Given the description of an element on the screen output the (x, y) to click on. 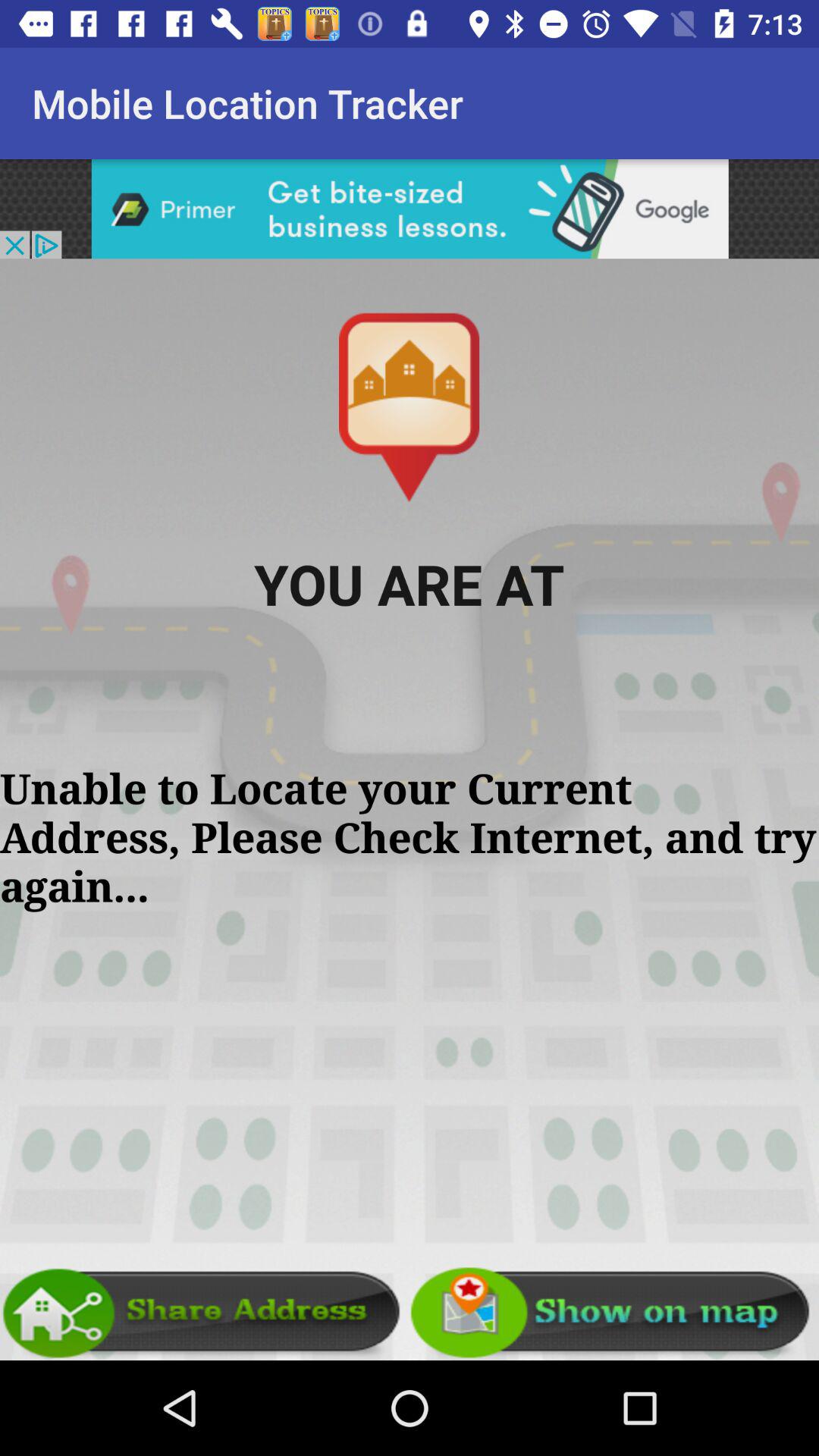
go to advertisement (409, 208)
